Given the description of an element on the screen output the (x, y) to click on. 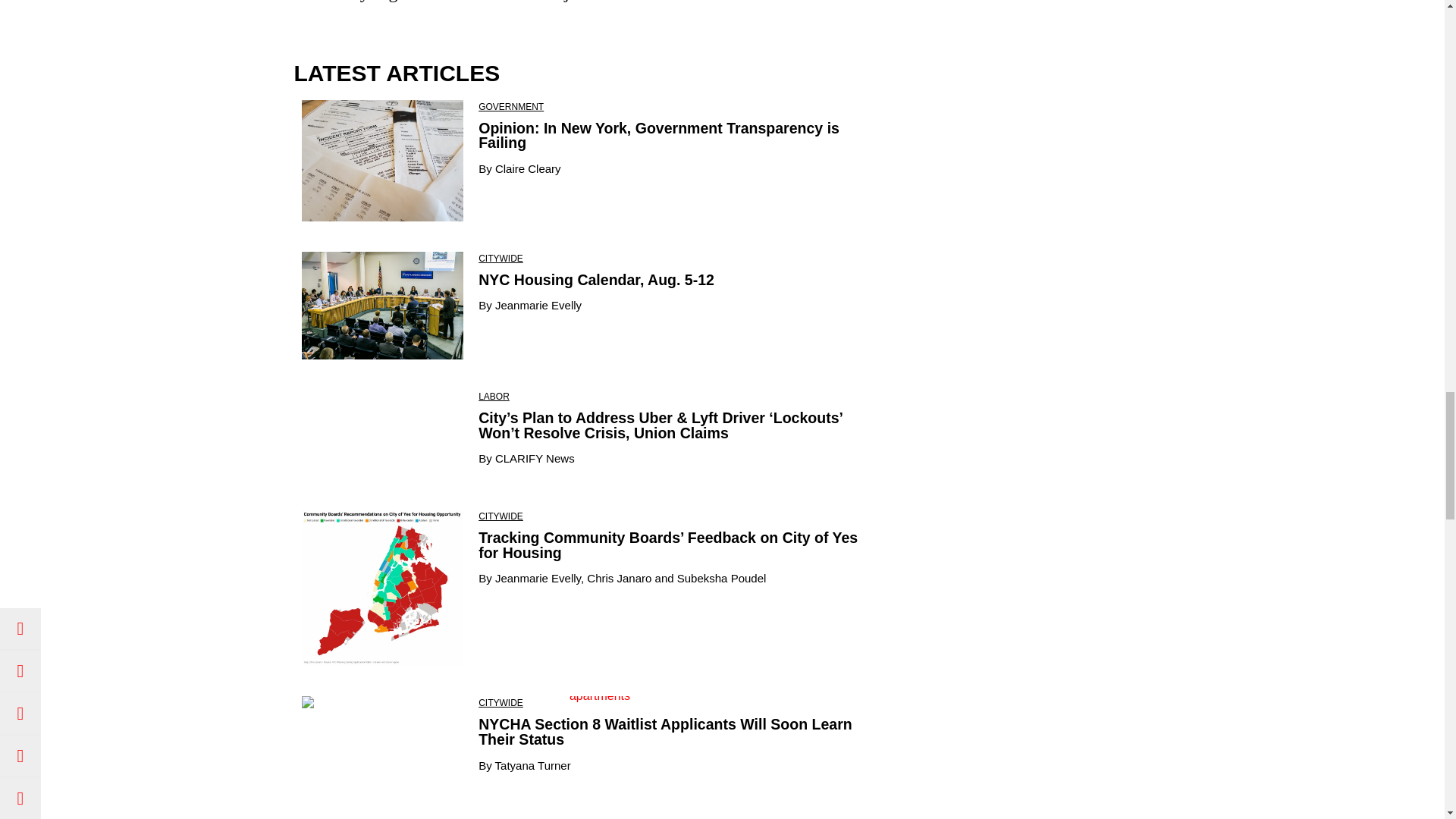
Read All Posts By Subeksha Poudel (722, 577)
Read All Posts By Chris Janaro (618, 577)
Read All Posts By Claire Cleary (527, 168)
Read Articles in the Citywide category (500, 702)
Read Articles in the Government category (511, 106)
Read All Posts By Tatyana Turner (532, 764)
Read Articles in the Labor category (494, 396)
Read Articles in the Citywide category (500, 516)
Read Articles in the Citywide category (500, 258)
Read All Posts By Jeanmarie Evelly (537, 305)
